Given the description of an element on the screen output the (x, y) to click on. 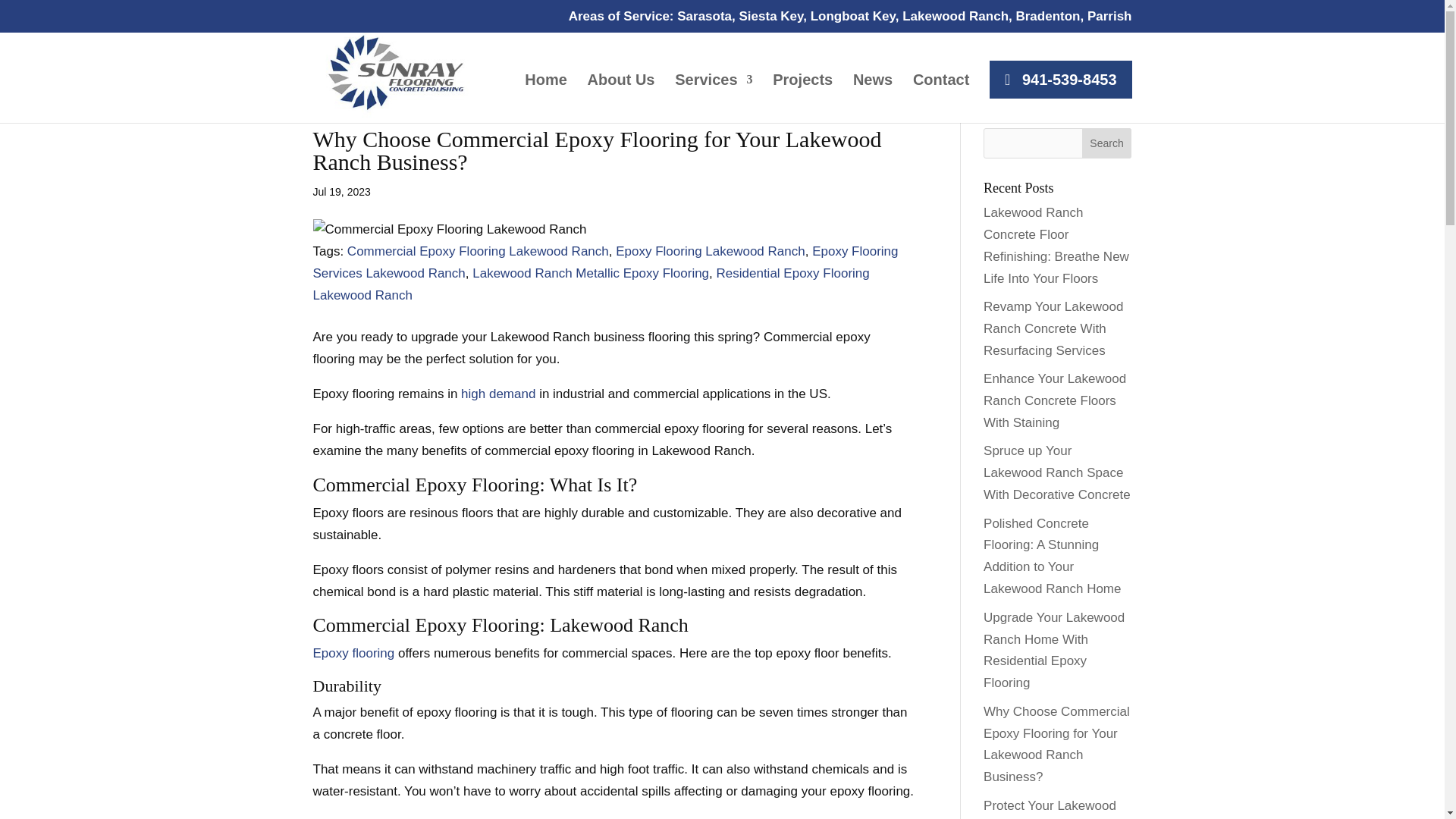
Home (545, 98)
Commercial Epoxy Flooring Lakewood Ranch (477, 251)
Services (713, 98)
Epoxy flooring (353, 653)
Lakewood Ranch Metallic Epoxy Flooring (590, 273)
News (872, 98)
941-539-8453 (1060, 79)
Projects (802, 98)
Epoxy Flooring Lakewood Ranch (710, 251)
Contact (940, 98)
Epoxy Flooring Services Lakewood Ranch (605, 262)
